Given the description of an element on the screen output the (x, y) to click on. 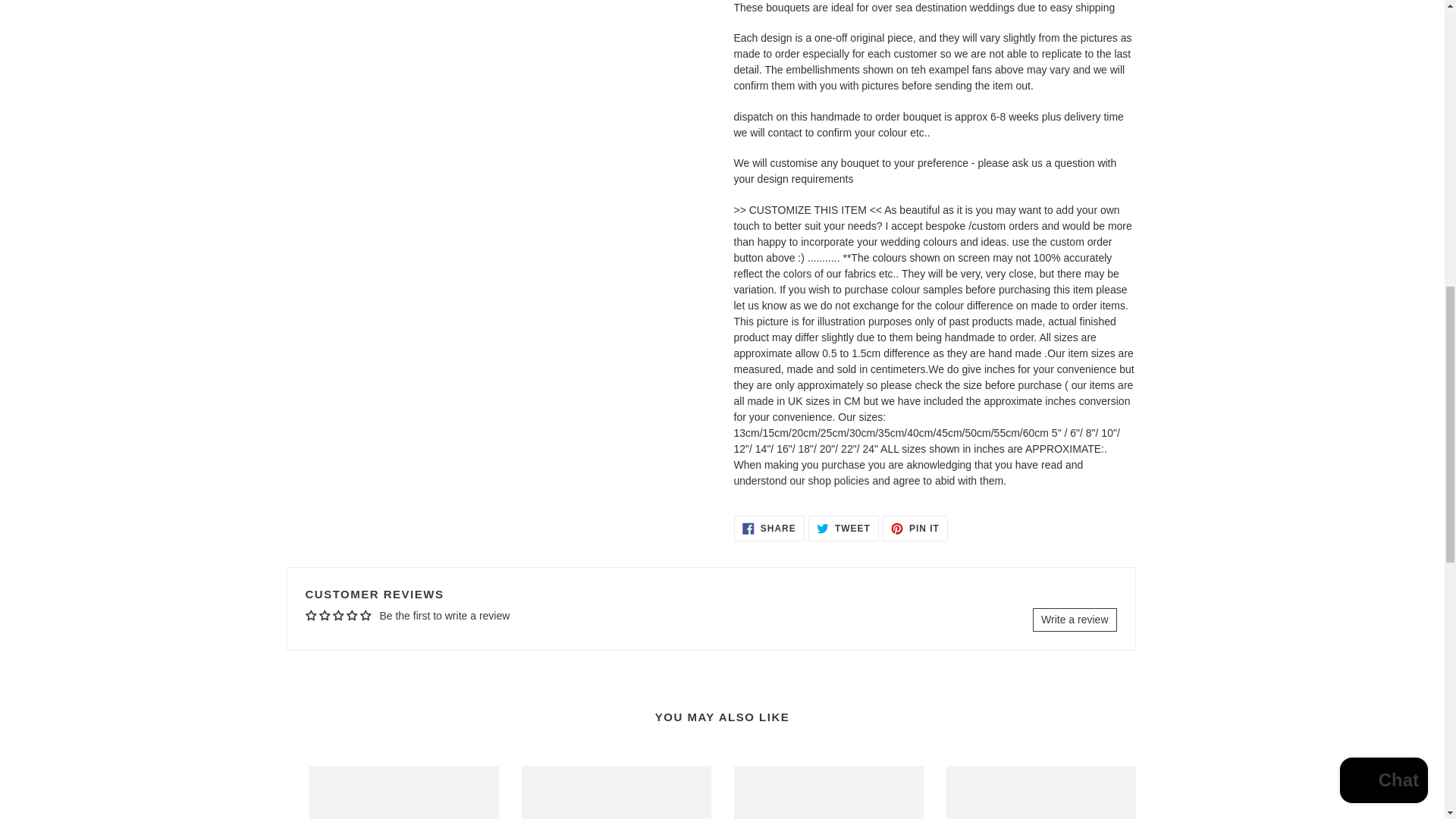
About us (329, 660)
Privacy policy (341, 680)
SUBSCRIBE (843, 506)
Contact us (769, 506)
Refund policy (872, 654)
Search (333, 739)
